Given the description of an element on the screen output the (x, y) to click on. 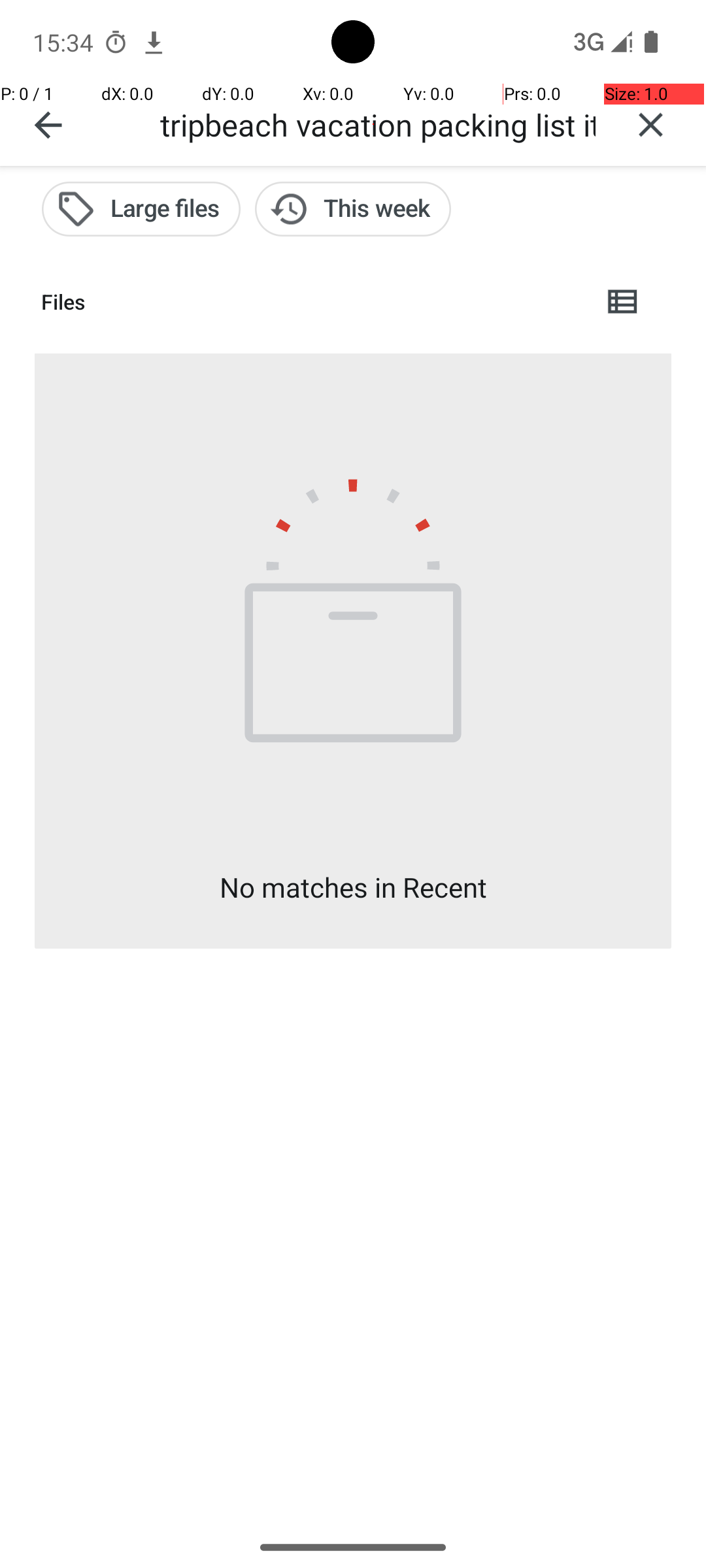
summer vacatiobeach tripbeach vacation packing list itineraryn plans Element type: android.widget.AutoCompleteTextView (373, 124)
Chrome notification: www.espn.com Element type: android.widget.ImageView (153, 41)
